Given the description of an element on the screen output the (x, y) to click on. 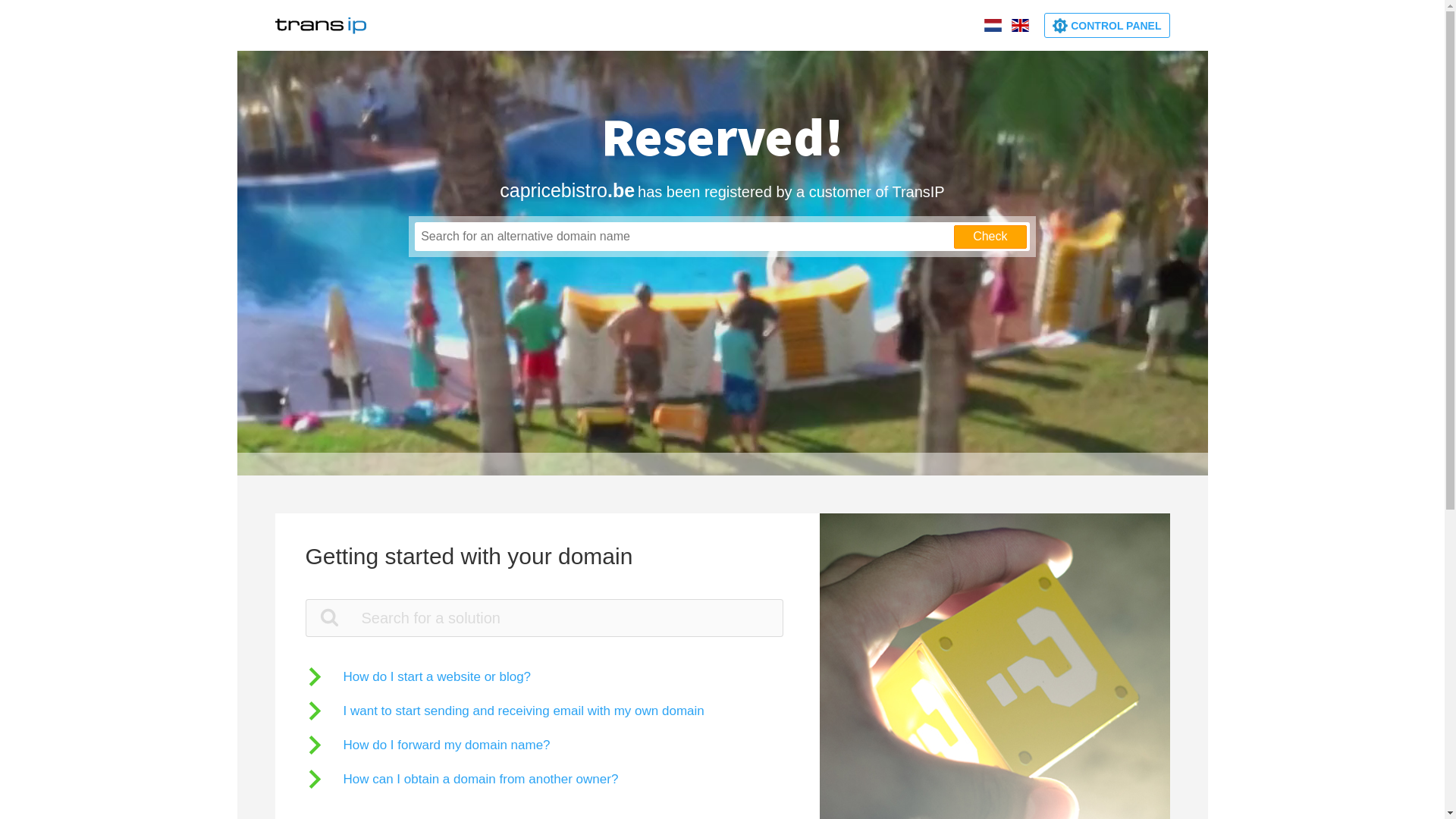
How do I forward my domain name? Element type: text (426, 743)
Check Element type: text (989, 236)
How do I start a website or blog? Element type: text (417, 675)
How can I obtain a domain from another owner? Element type: text (461, 777)
CONTROL PANEL Element type: text (1106, 24)
